Given the description of an element on the screen output the (x, y) to click on. 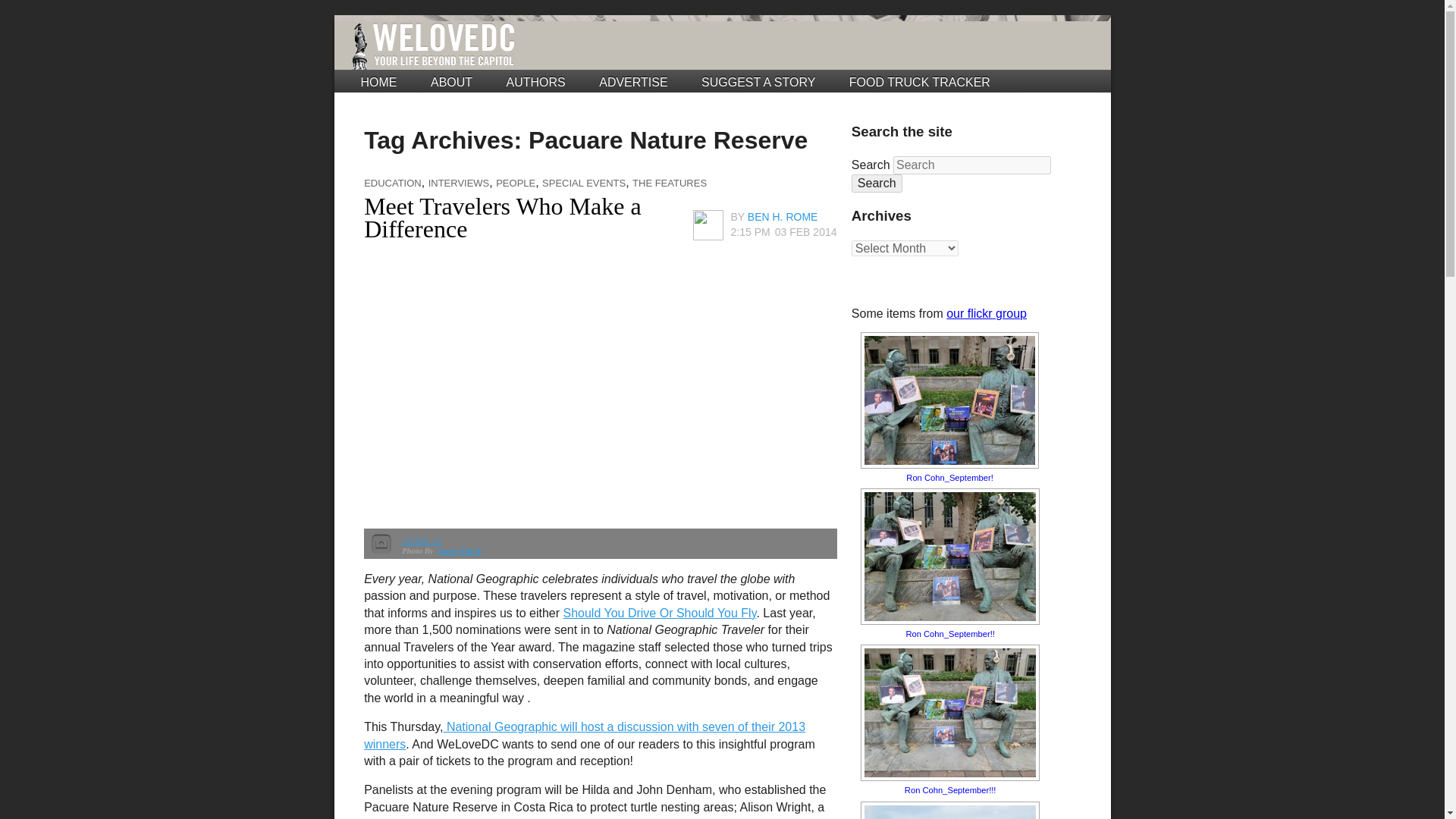
AUTHORS (536, 82)
EDUCATION (393, 183)
ADVERTISE (632, 82)
INTERVIEWS (458, 183)
THE FEATURES (668, 183)
HOME (379, 82)
ABOUT (450, 82)
Jason Finch (459, 550)
Permalink to Meet Travelers Who Make a Difference (503, 217)
PEOPLE (515, 183)
